Given the description of an element on the screen output the (x, y) to click on. 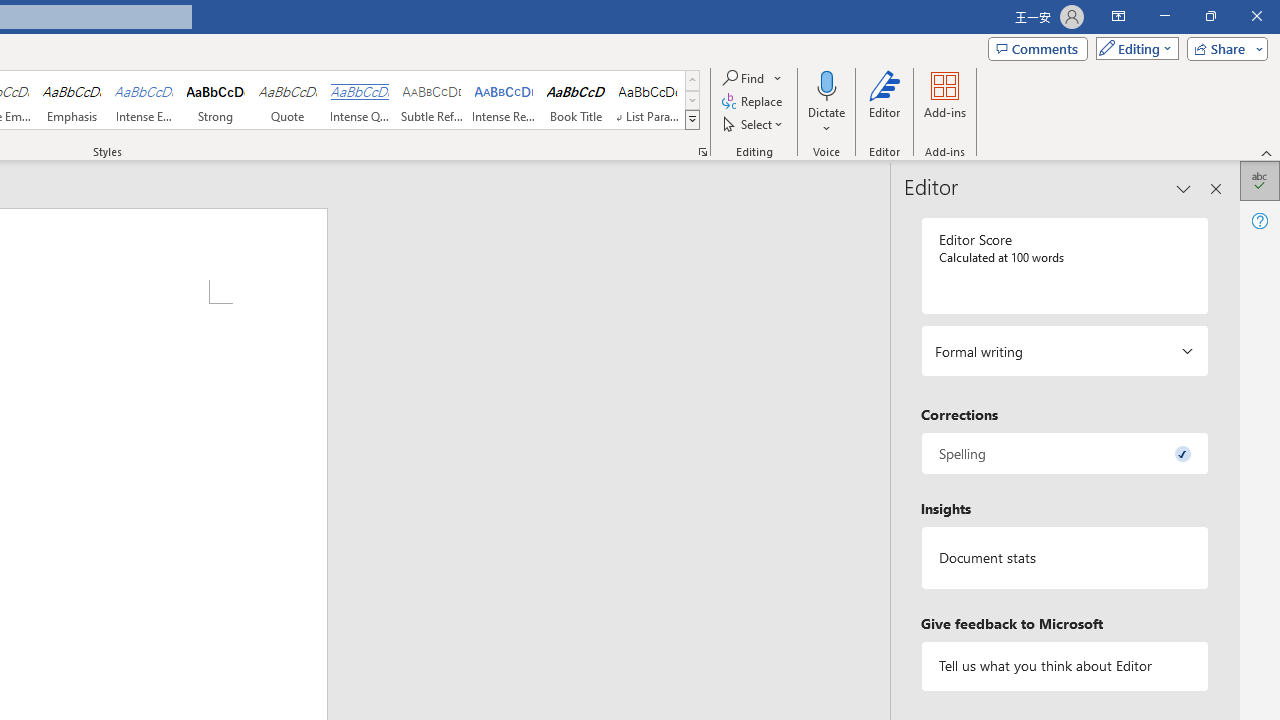
Mode (1133, 47)
Document statistics (1064, 557)
Replace... (753, 101)
Find (744, 78)
Share (1223, 48)
Ribbon Display Options (1118, 16)
Collapse the Ribbon (1267, 152)
Spelling, 0 issues. Press space or enter to review items. (1064, 452)
Intense Quote (359, 100)
Minimize (1164, 16)
Row up (692, 79)
More Options (826, 121)
Tell us what you think about Editor (1064, 666)
Find (753, 78)
